Given the description of an element on the screen output the (x, y) to click on. 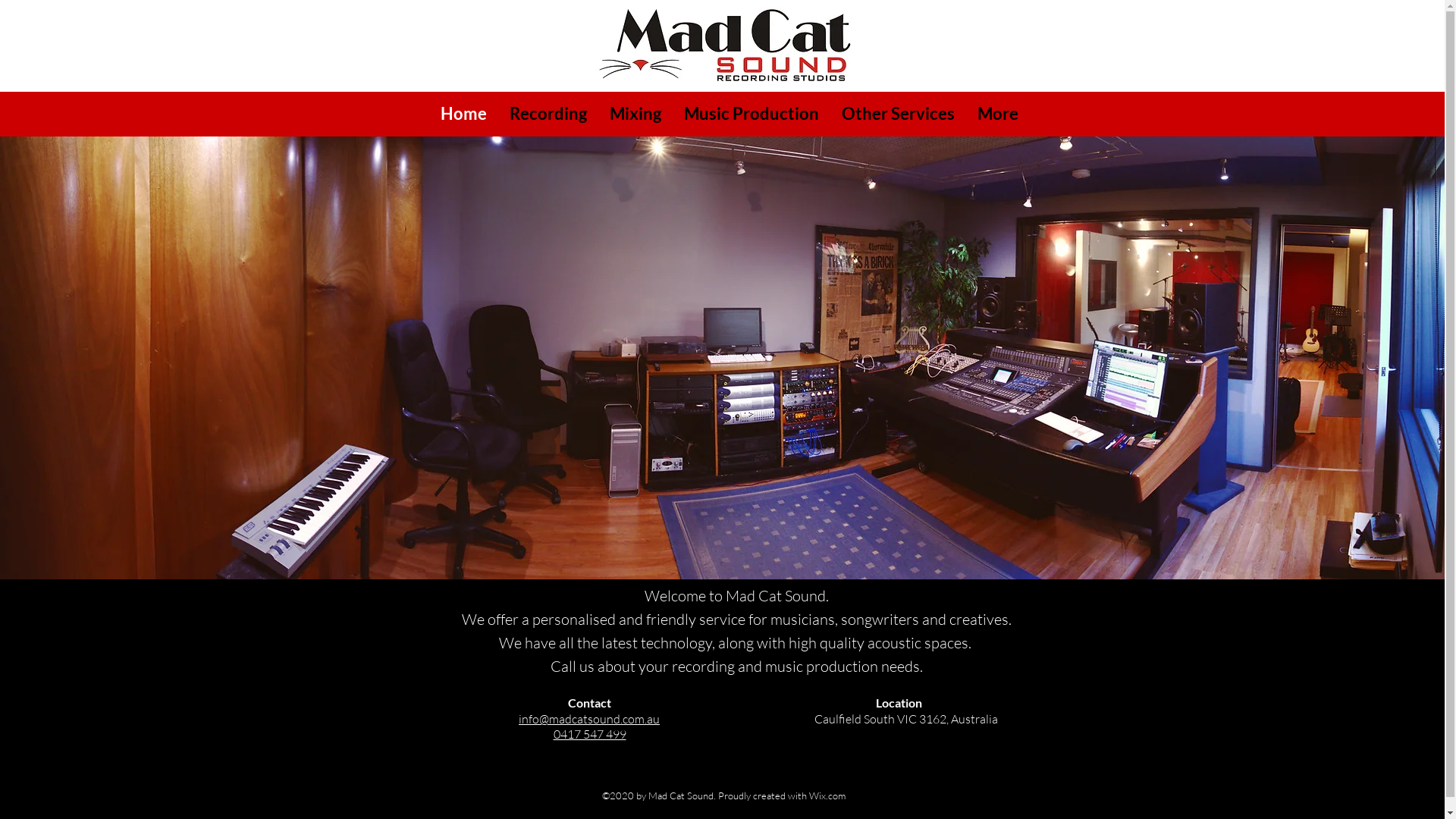
Home Element type: text (463, 113)
Music Production Element type: text (750, 113)
Other Services Element type: text (897, 113)
Recording Element type: text (547, 113)
0417 547 499 Element type: text (589, 733)
Mixing Element type: text (634, 113)
info@madcatsound.com.au Element type: text (588, 718)
